Given the description of an element on the screen output the (x, y) to click on. 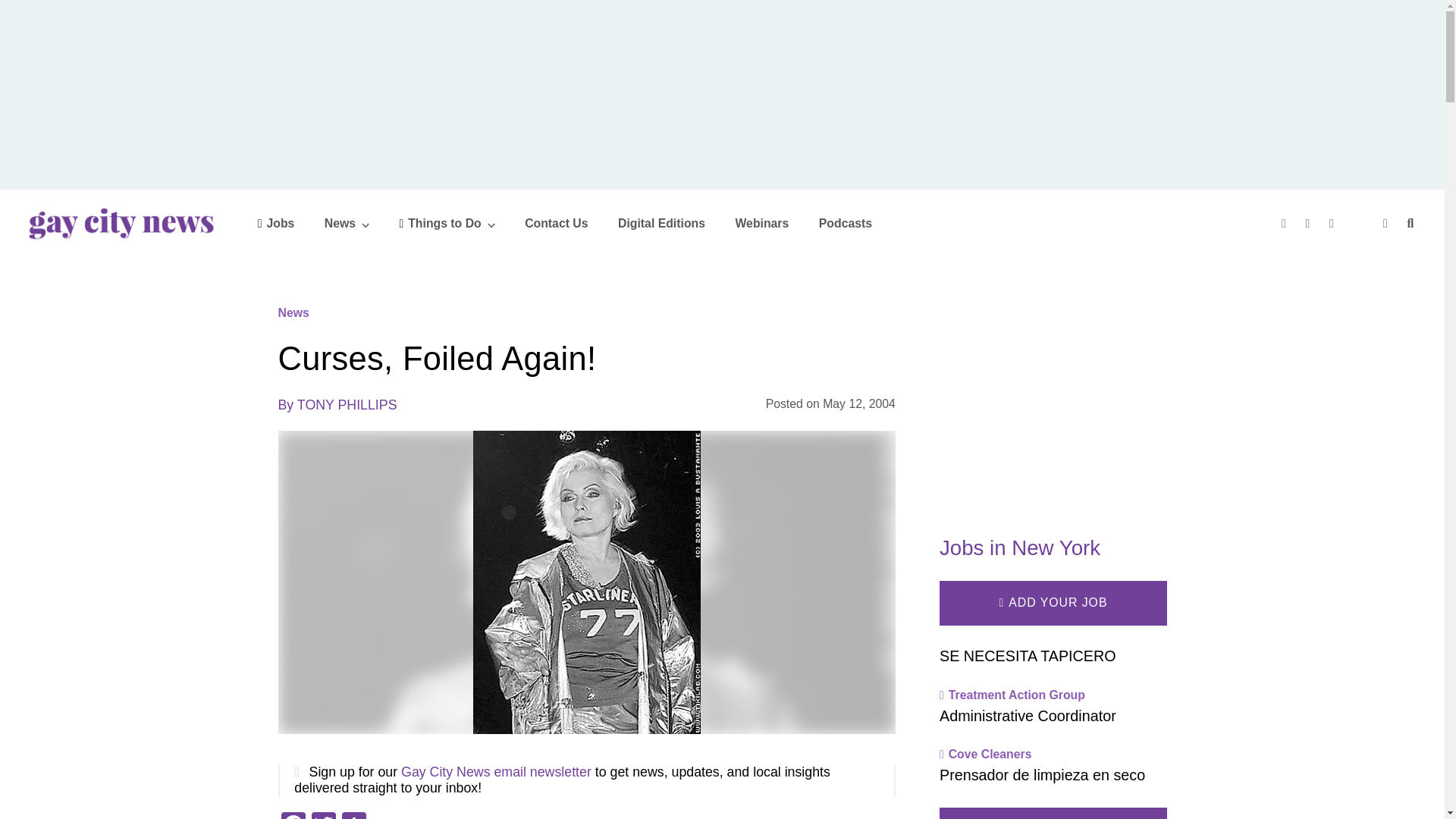
News (346, 223)
Instagram (1333, 223)
Twitter (1310, 223)
Podcasts (845, 223)
Webinars (762, 223)
3rd party ad content (1052, 398)
Digital Editions (660, 223)
Things to Do (446, 223)
Facebook (292, 815)
Jobs (276, 223)
Contact Us (556, 223)
Twitter (322, 815)
Facebook (1285, 223)
